Given the description of an element on the screen output the (x, y) to click on. 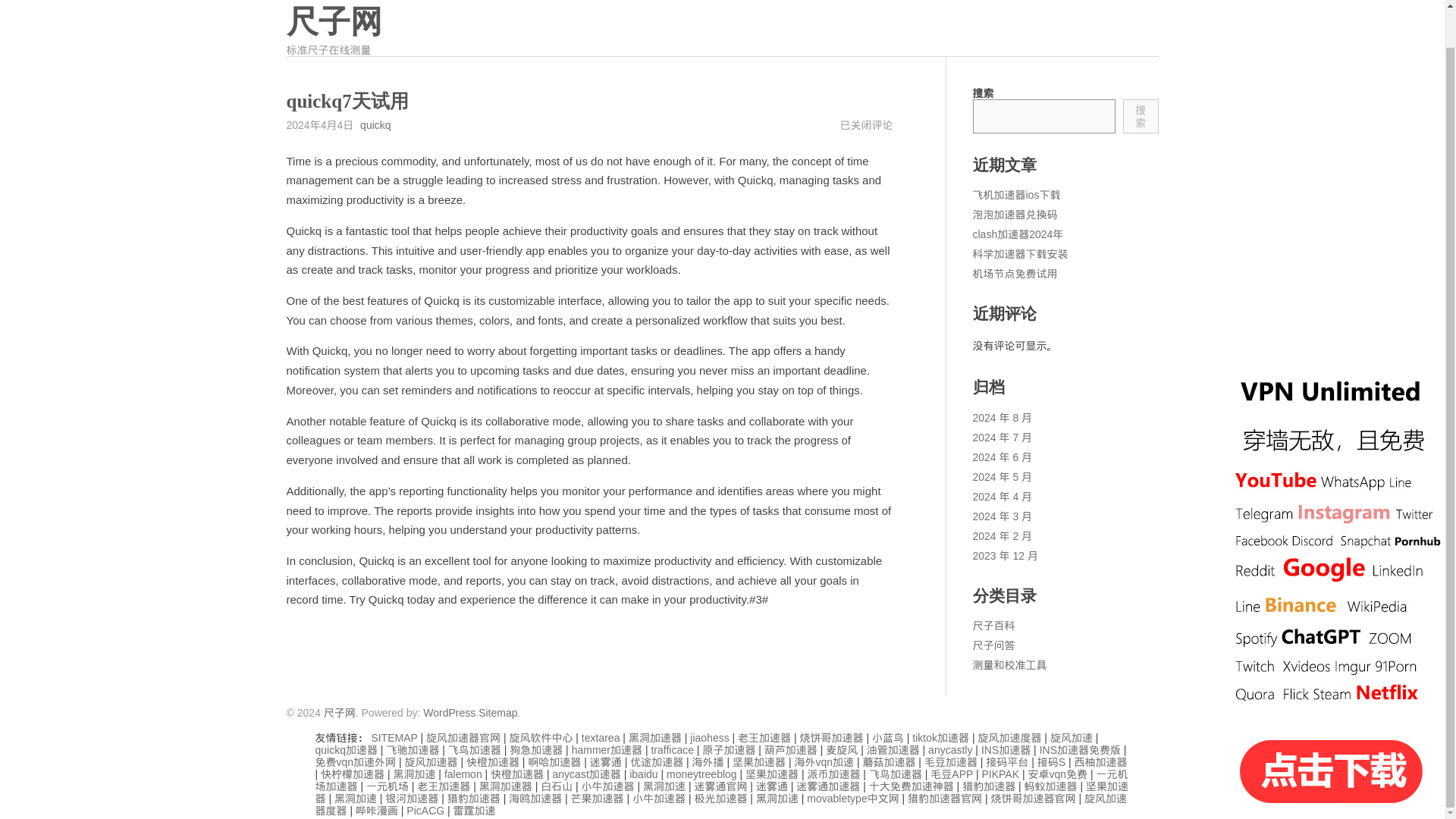
jiaohess (709, 737)
SITEMAP (393, 737)
Sitemap (497, 712)
WordPress (449, 712)
textarea (600, 737)
quickq (374, 124)
